Given the description of an element on the screen output the (x, y) to click on. 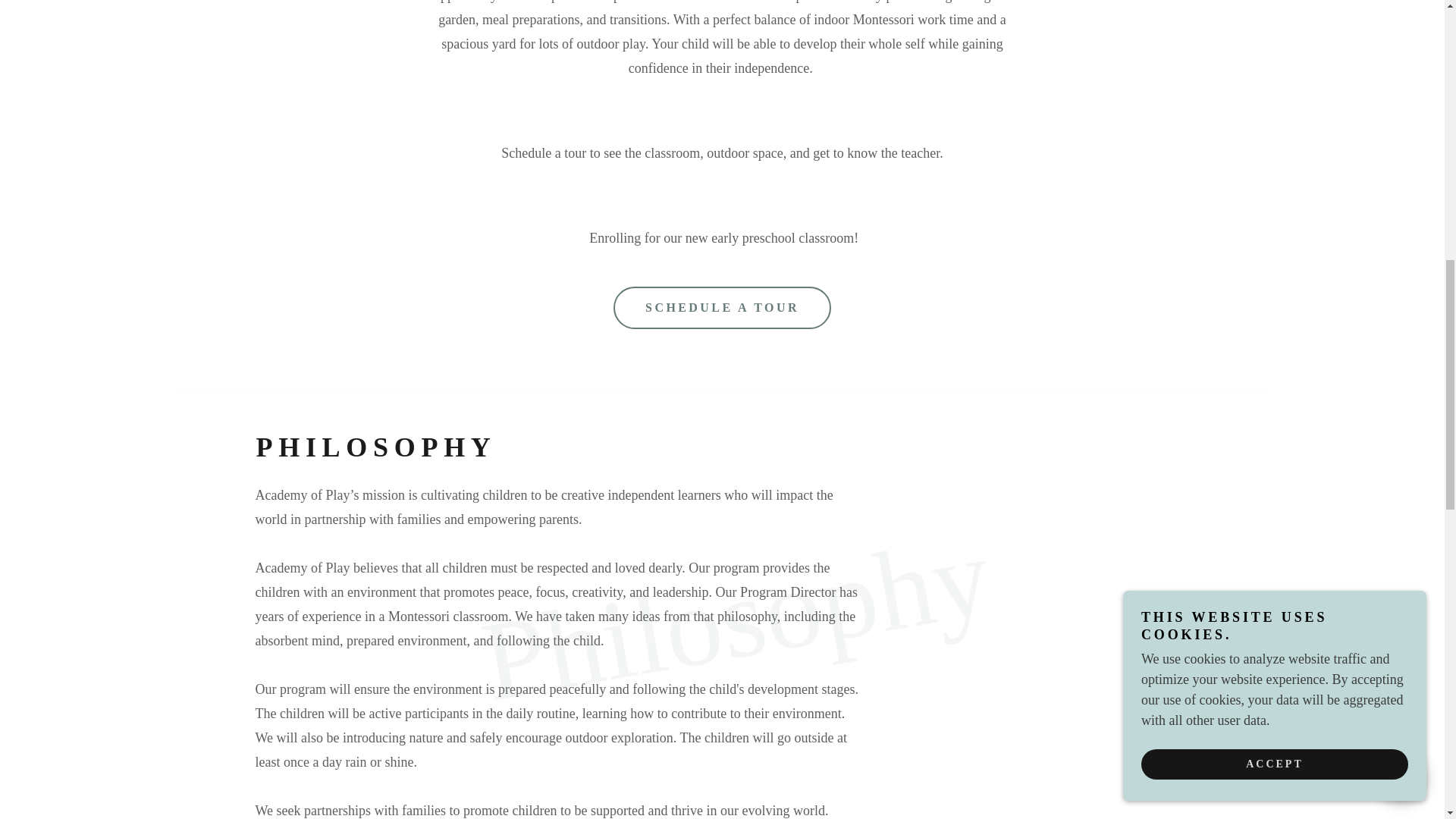
SCHEDULE A TOUR (721, 307)
